Given the description of an element on the screen output the (x, y) to click on. 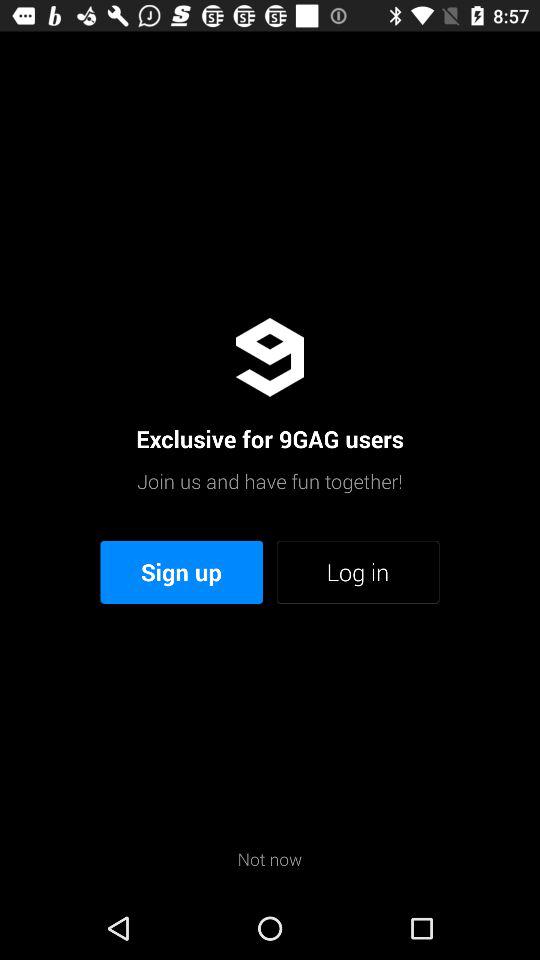
choose icon above the not now (181, 571)
